Given the description of an element on the screen output the (x, y) to click on. 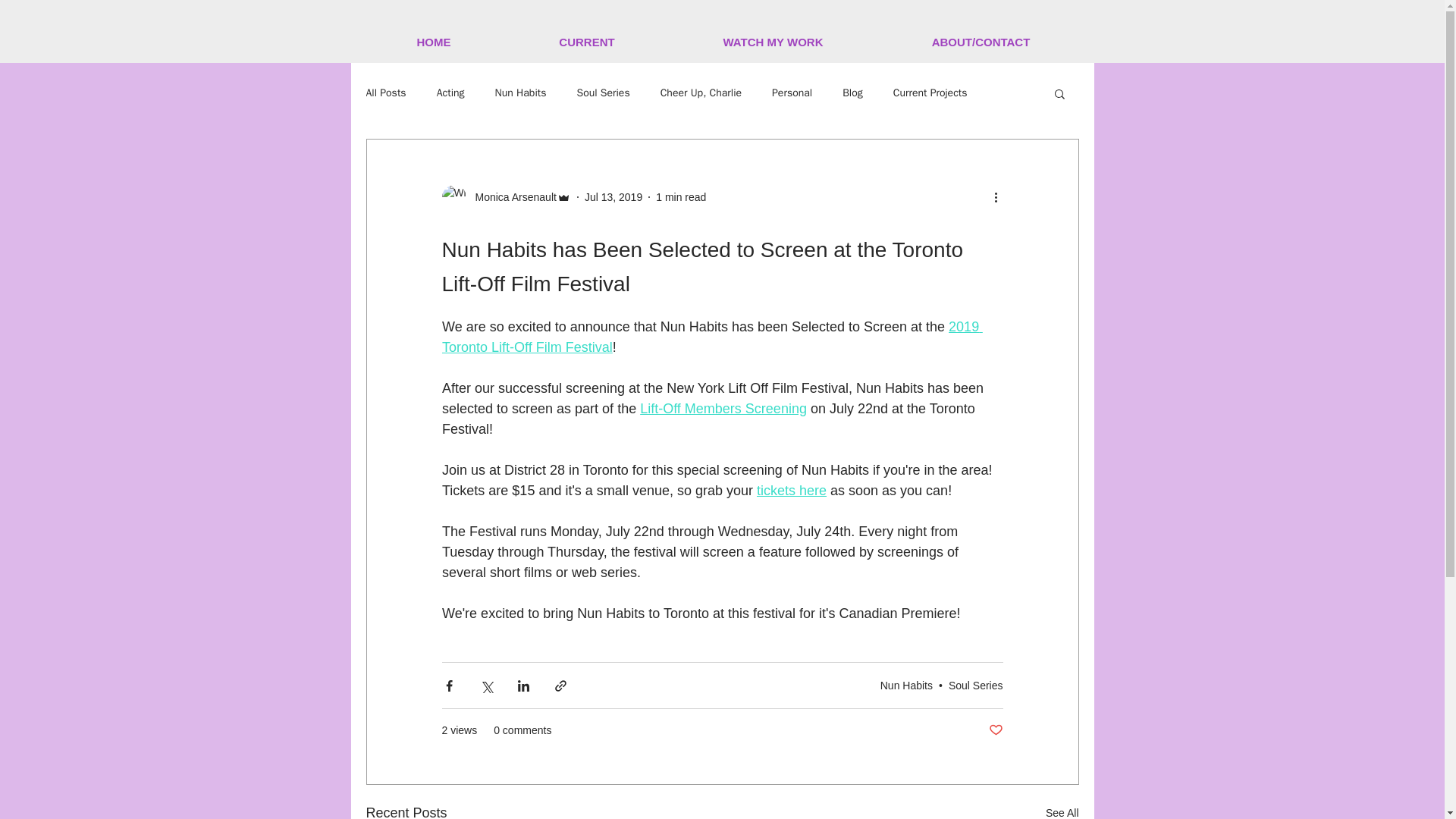
Cheer Up, Charlie (701, 92)
Blog (853, 92)
Soul Series (976, 685)
Nun Habits (906, 685)
CURRENT (586, 42)
Personal (791, 92)
tickets here (790, 490)
Current Projects (930, 92)
Acting (450, 92)
See All (1061, 810)
